Given the description of an element on the screen output the (x, y) to click on. 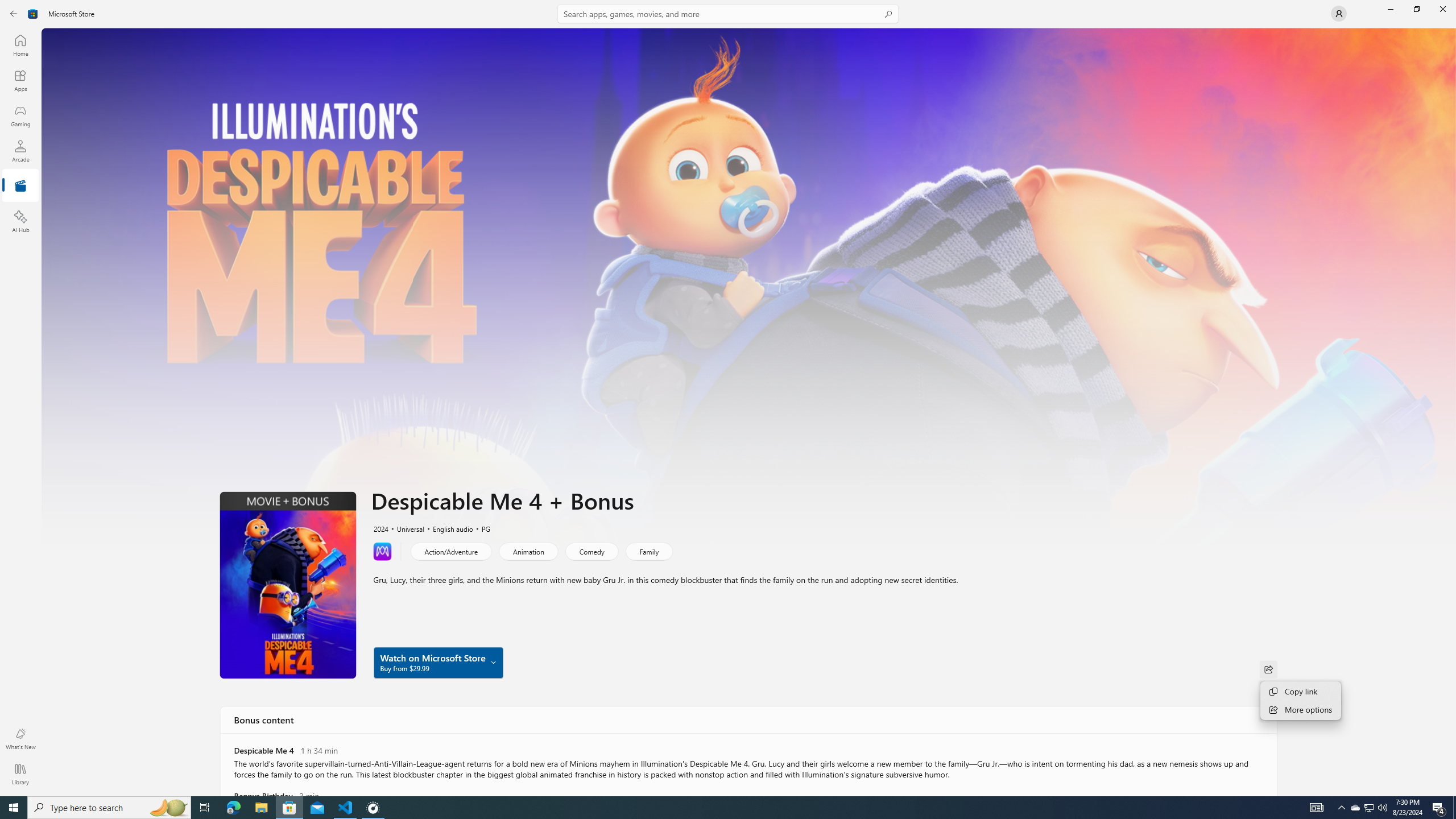
Back (13, 13)
Library (20, 773)
Arcade (20, 150)
Home (20, 45)
Entertainment (20, 185)
Share (1267, 669)
Restore Microsoft Store (1416, 9)
AutomationID: NavigationControl (728, 398)
Watch on Microsoft Store Buy from $29.99 (437, 662)
Comedy (590, 551)
Universal (405, 528)
PG (481, 528)
User profile (1338, 13)
Minimize Microsoft Store (1390, 9)
